Given the description of an element on the screen output the (x, y) to click on. 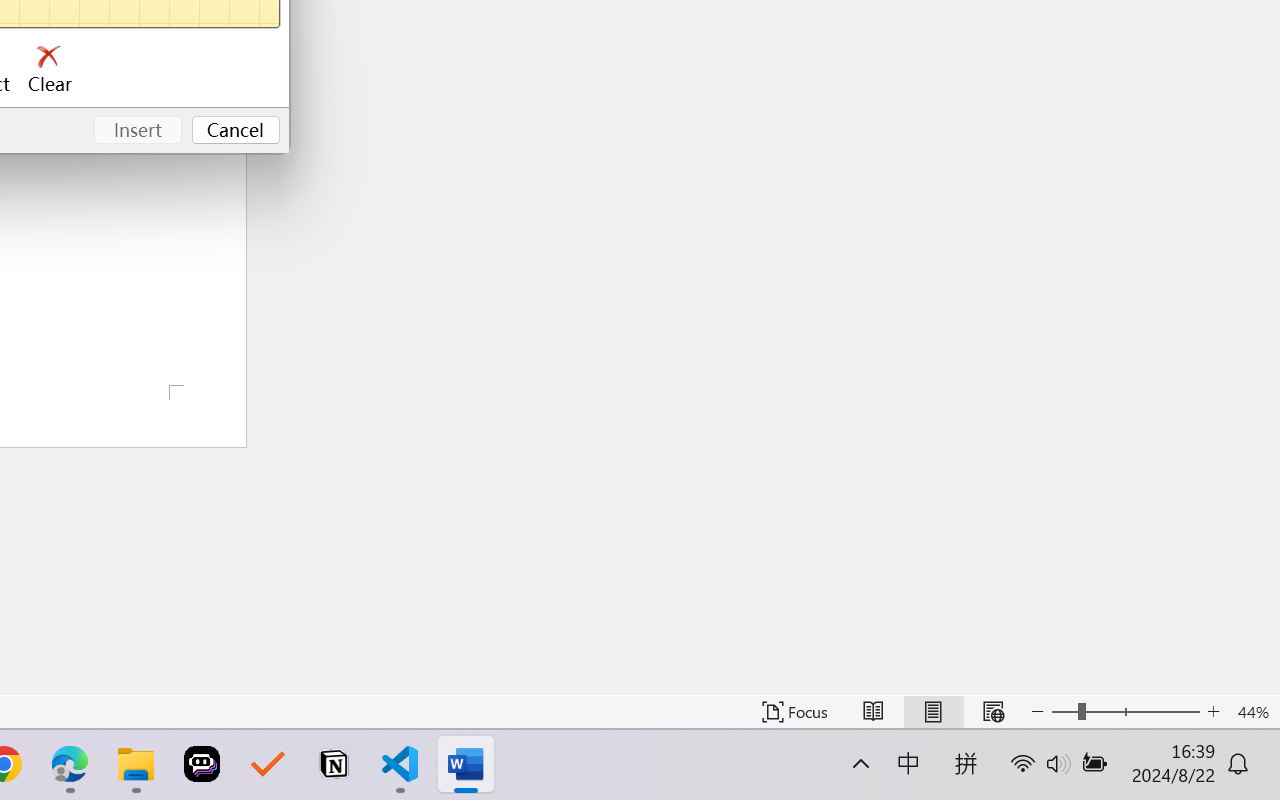
Cancel (235, 129)
Poe (201, 764)
